Given the description of an element on the screen output the (x, y) to click on. 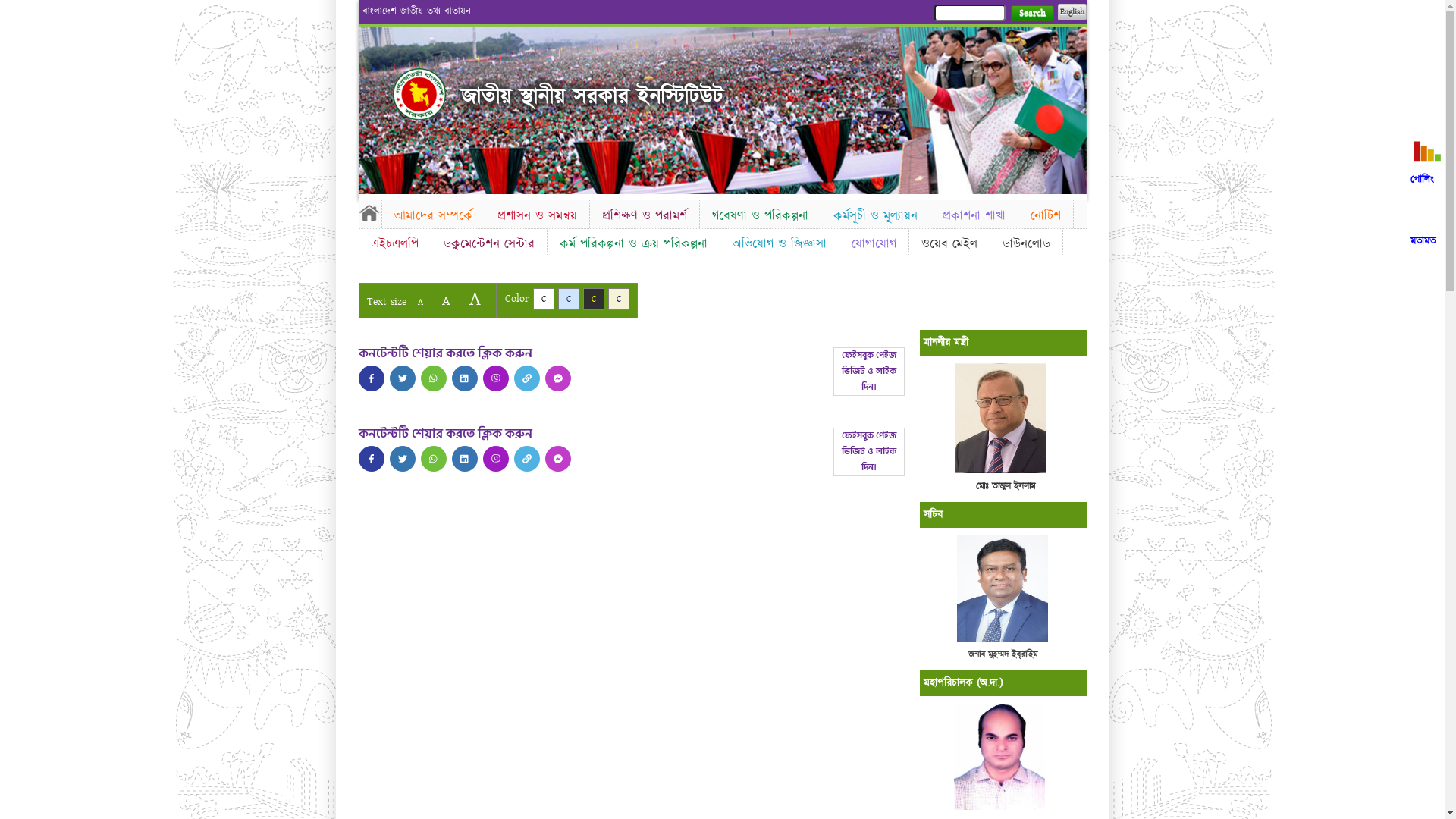
C Element type: text (618, 299)
English Element type: text (1071, 11)
Search Element type: text (1031, 13)
A Element type: text (445, 300)
A Element type: text (474, 298)
Home Element type: hover (418, 93)
C Element type: text (542, 299)
C Element type: text (568, 299)
C Element type: text (592, 299)
Home Element type: hover (368, 211)
A Element type: text (419, 301)
